Given the description of an element on the screen output the (x, y) to click on. 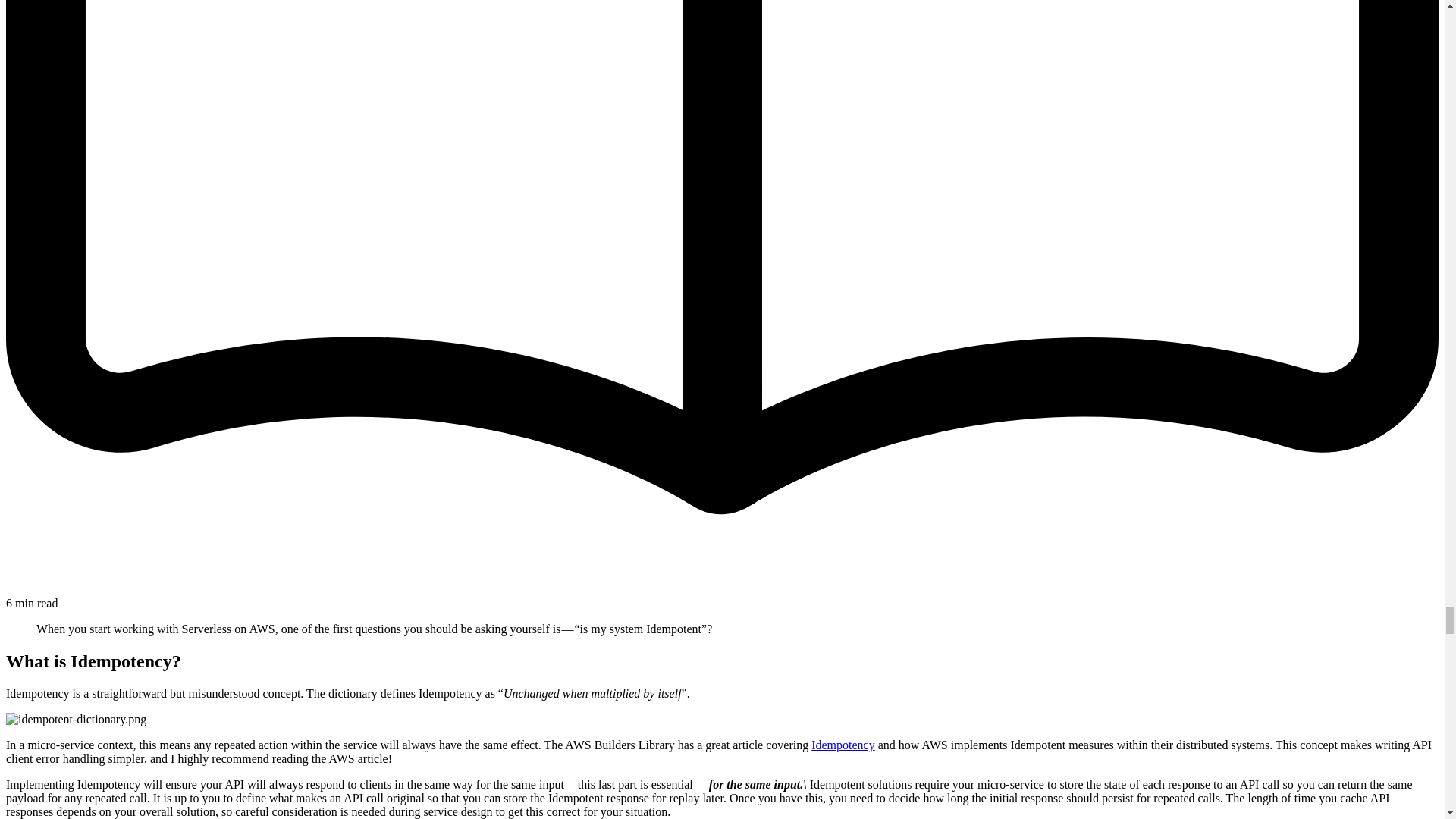
Idempotency (842, 744)
